Given the description of an element on the screen output the (x, y) to click on. 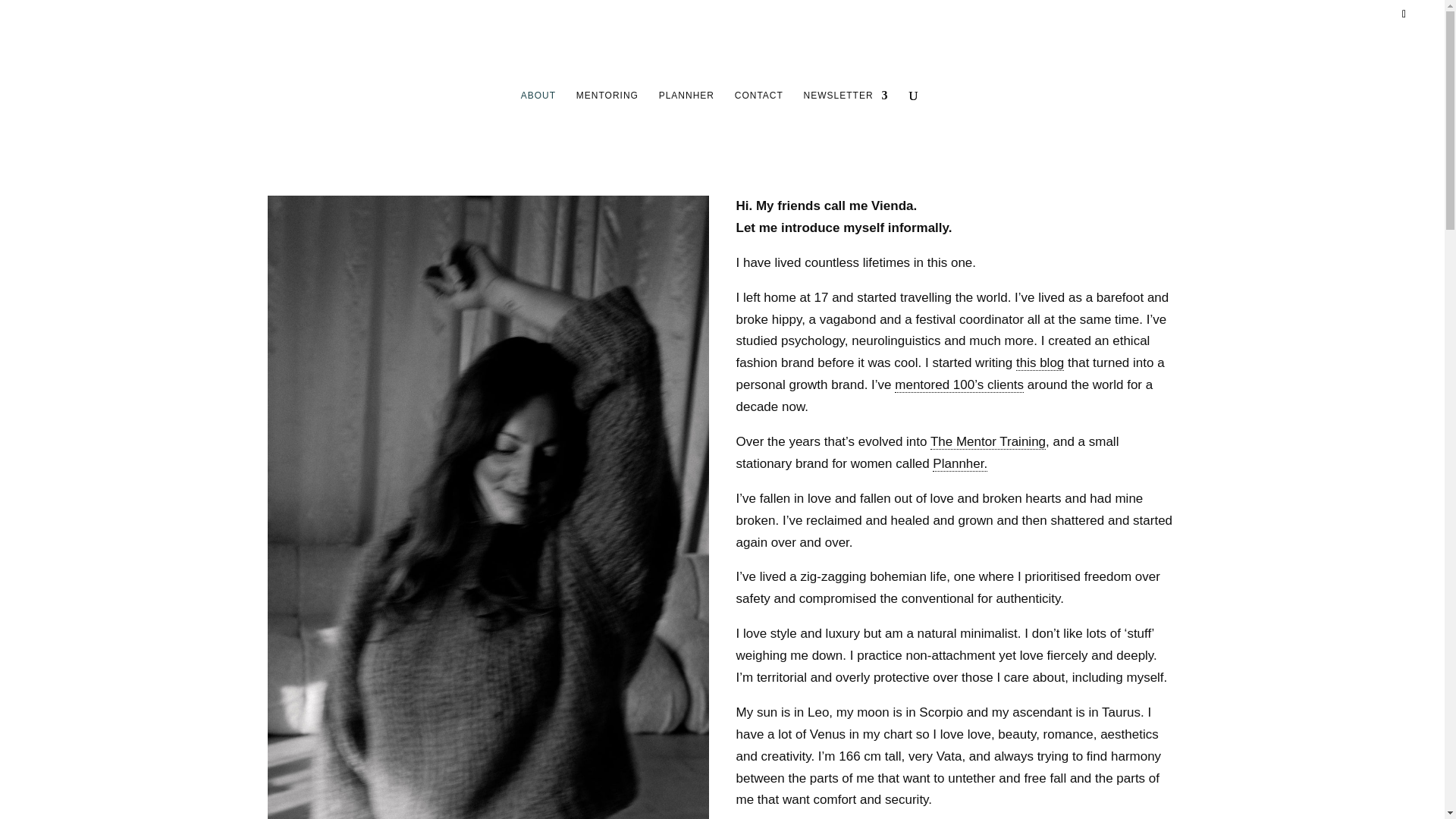
this blog (1040, 363)
Plannher. (960, 463)
The Mentor Training (987, 441)
NEWSLETTER (845, 125)
